Given the description of an element on the screen output the (x, y) to click on. 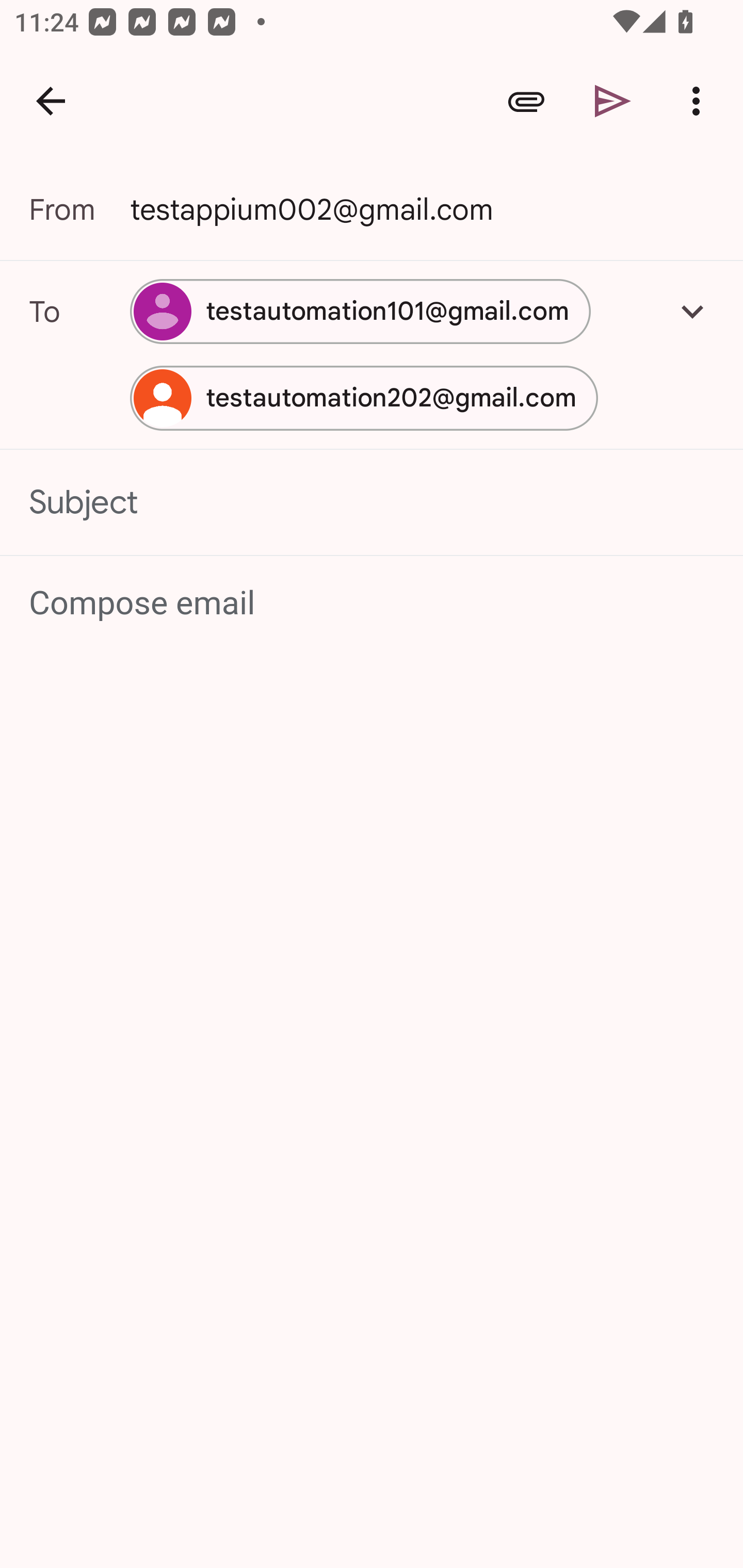
Navigate up (50, 101)
Attach file (525, 101)
Send (612, 101)
More options (699, 101)
From (79, 209)
Add Cc/Bcc (692, 311)
Subject (371, 502)
Compose email (372, 603)
